Given the description of an element on the screen output the (x, y) to click on. 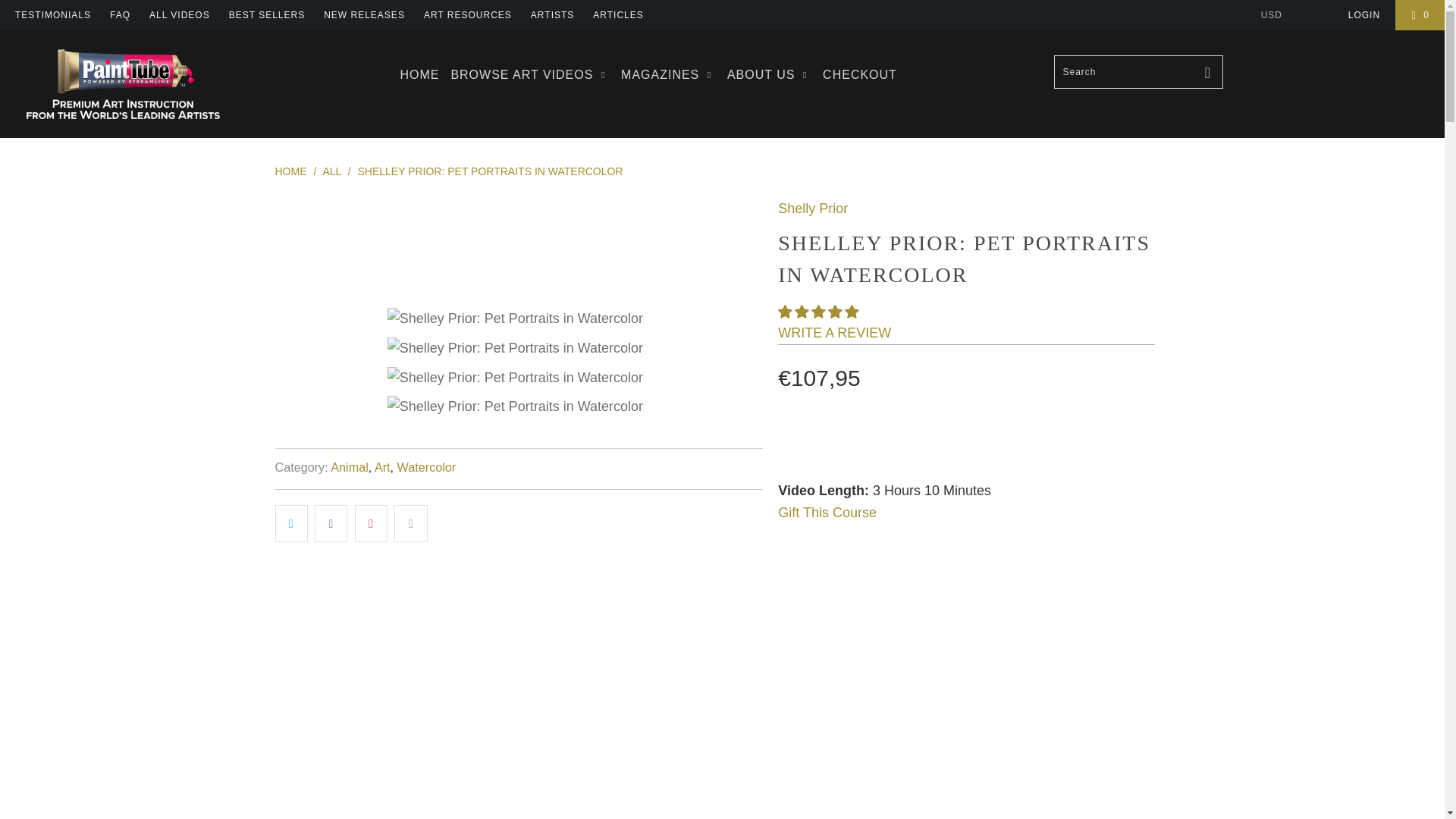
Share this on Twitter (291, 523)
Email this to a friend (410, 523)
ALL VIDEOS (179, 15)
Products tagged Animal (349, 467)
ART RESOURCES (467, 15)
BROWSE ART VIDEOS (529, 74)
FAQ (120, 15)
ARTICLES (617, 15)
Share this on Facebook (330, 523)
NEW RELEASES (363, 15)
My Account  (1363, 15)
BEST SELLERS (266, 15)
ARTISTS (552, 15)
LOGIN (1363, 15)
PaintTube.tv (122, 84)
